Given the description of an element on the screen output the (x, y) to click on. 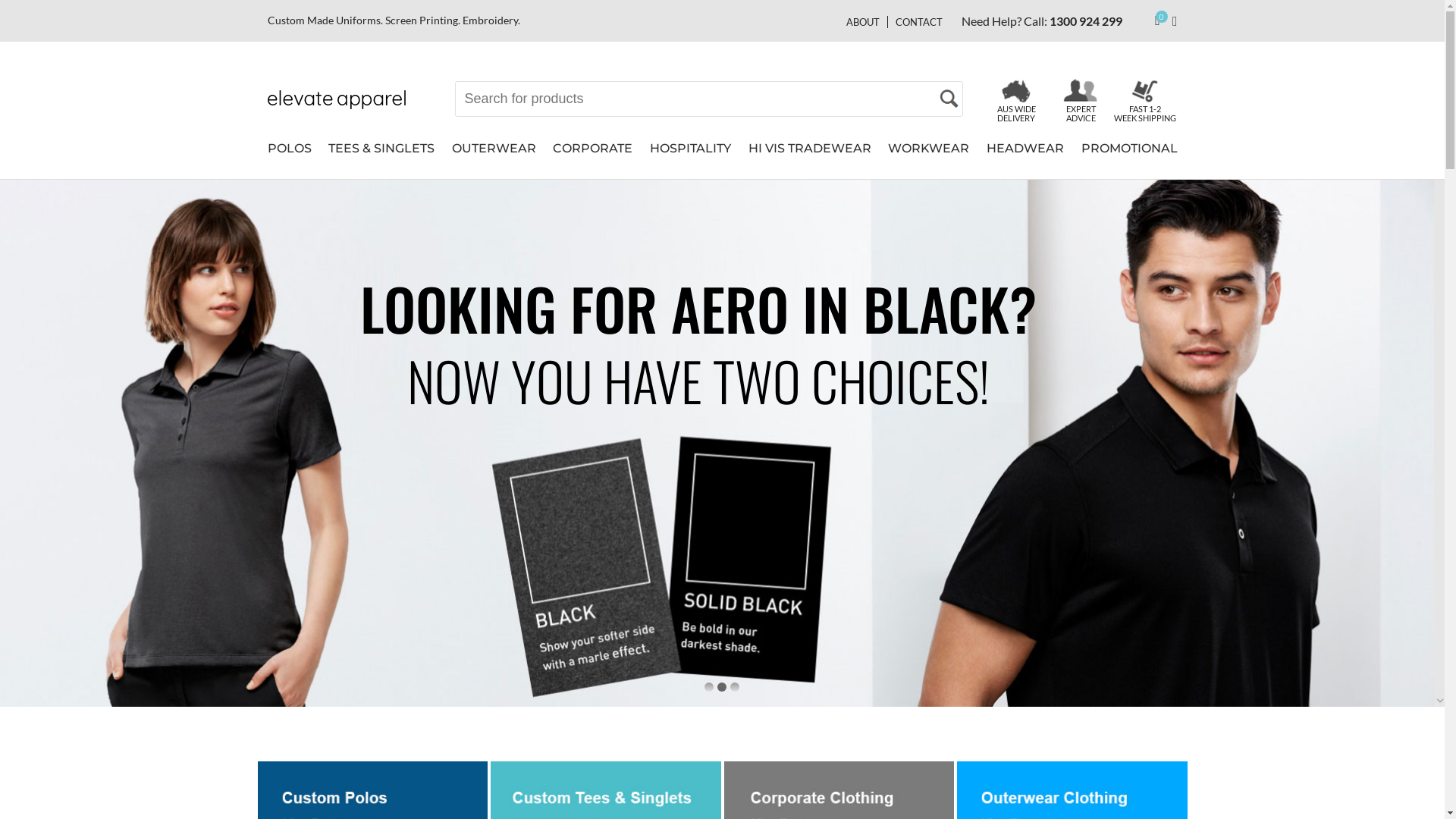
HEADWEAR Element type: text (1024, 155)
TEES & SINGLETS Element type: text (381, 155)
OUTERWEAR Element type: text (493, 155)
HI VIS TRADEWEAR Element type: text (809, 155)
PROMOTIONAL Element type: text (1129, 155)
Search Element type: hover (948, 98)
POLOS Element type: text (288, 155)
ABOUT Element type: text (866, 21)
0 Element type: text (1158, 21)
WORKWEAR Element type: text (928, 155)
Search Element type: text (948, 98)
CONTACT Element type: text (914, 21)
CORPORATE Element type: text (592, 155)
HOSPITALITY Element type: text (690, 155)
